Given the description of an element on the screen output the (x, y) to click on. 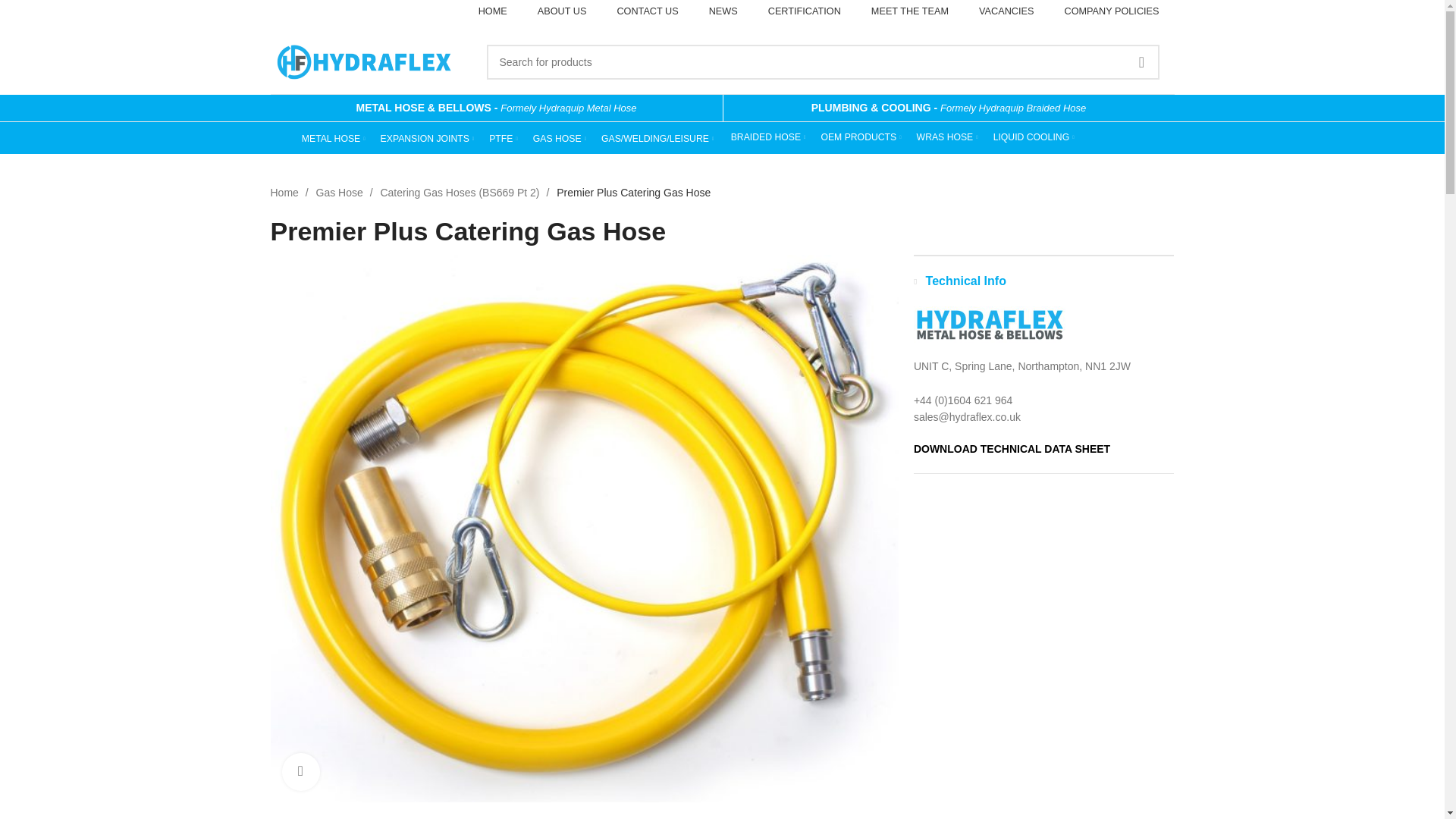
METAL HOSE (333, 138)
EXPANSION JOINTS (427, 138)
SEARCH (1141, 62)
Search for products (822, 62)
